Given the description of an element on the screen output the (x, y) to click on. 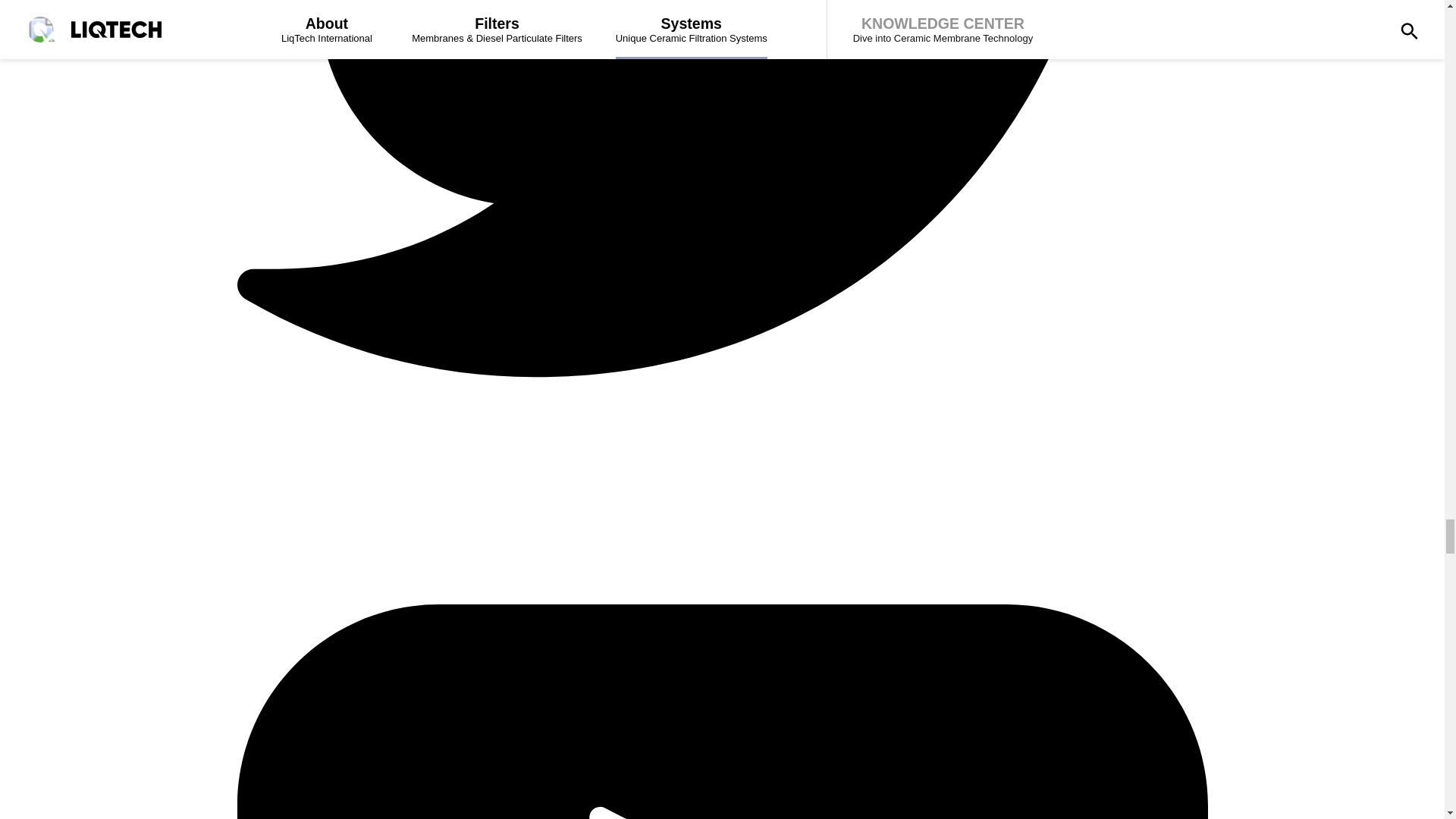
Twitter (721, 454)
